Given the description of an element on the screen output the (x, y) to click on. 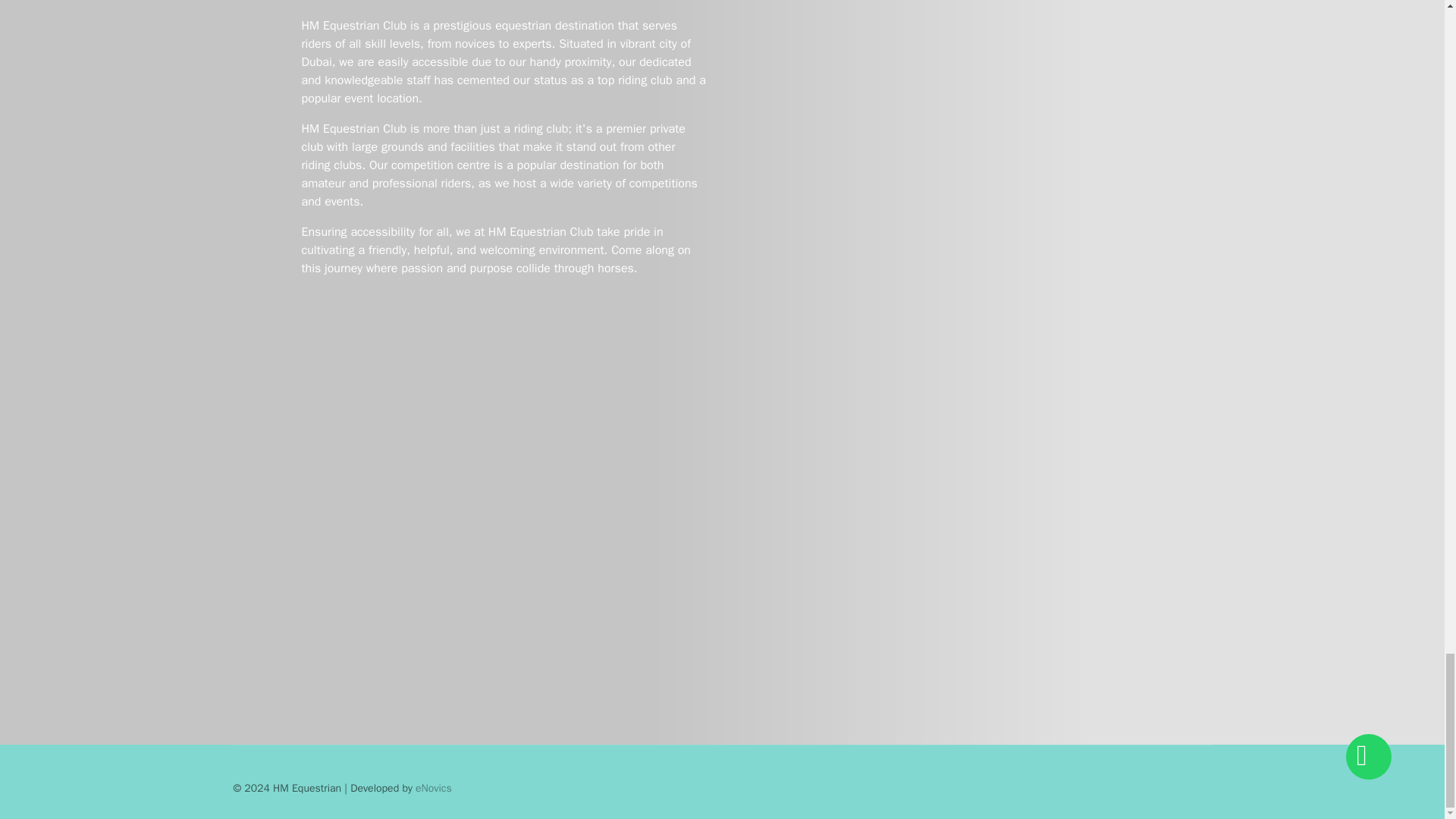
eNovics (432, 788)
Innovative Solutions (432, 788)
